Given the description of an element on the screen output the (x, y) to click on. 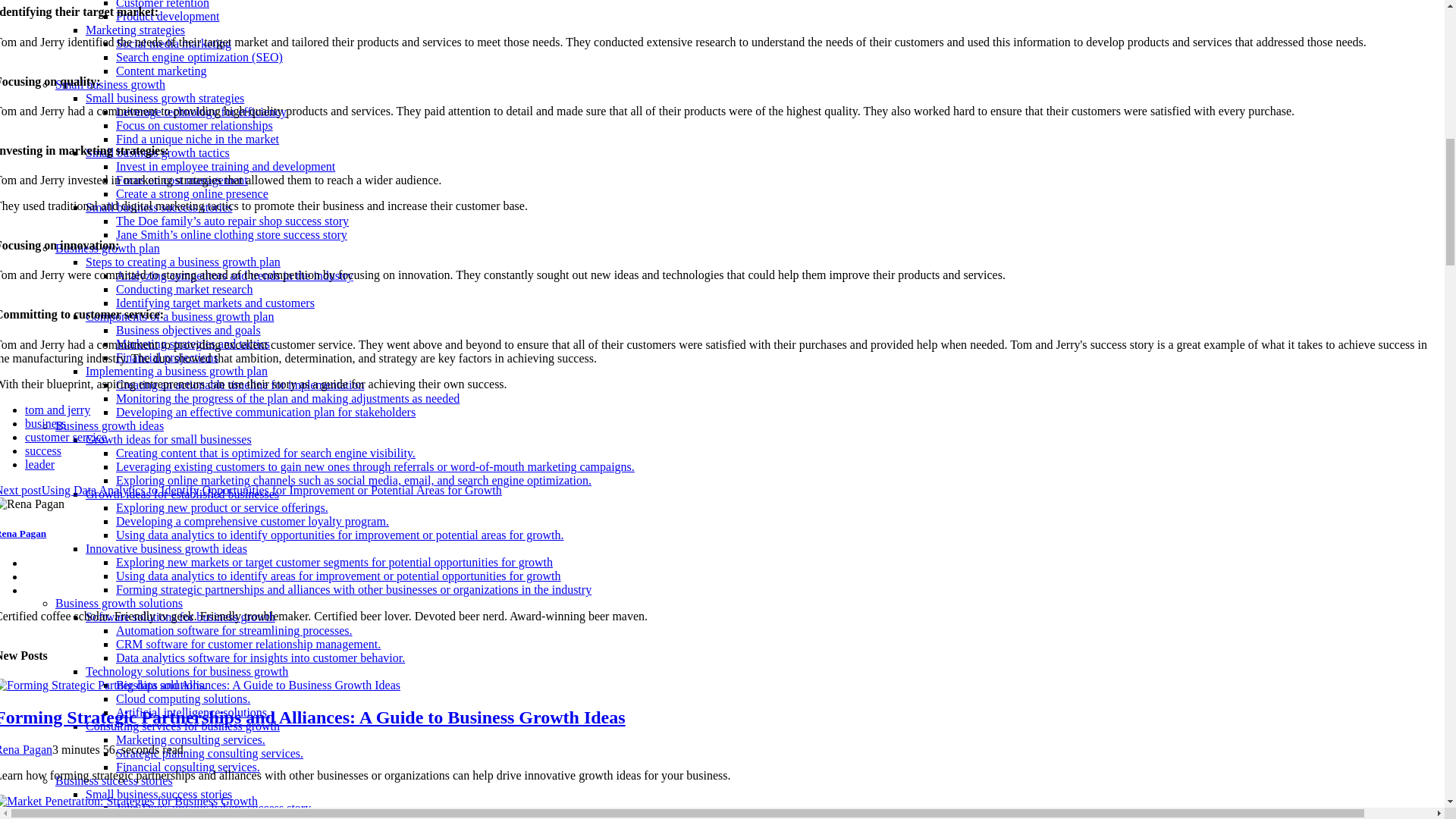
Posts by Rena Pagan (26, 748)
